Given the description of an element on the screen output the (x, y) to click on. 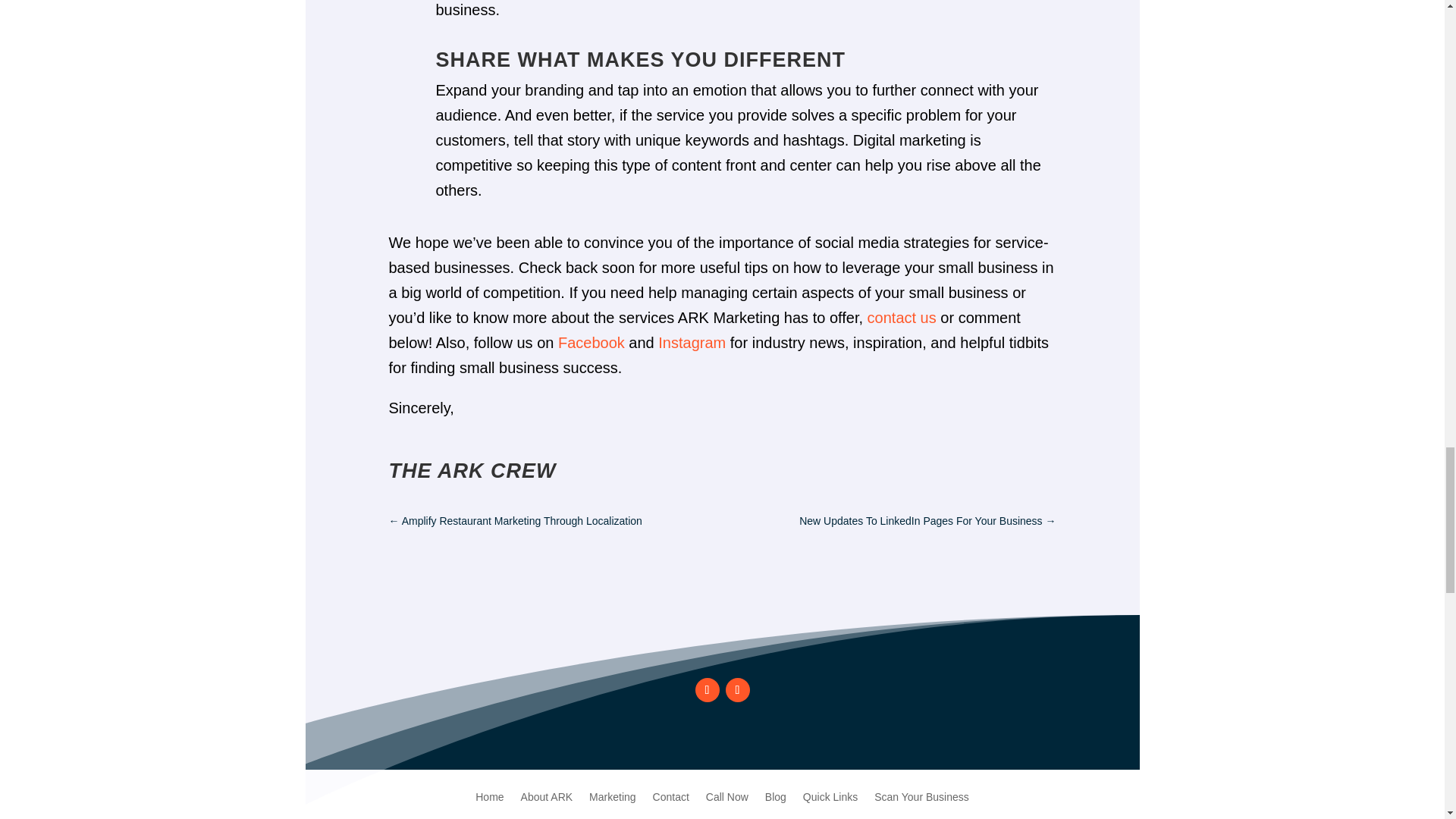
Follow on Instagram (737, 689)
Marketing (611, 785)
Follow on Facebook (706, 689)
Call Now (727, 785)
Facebook (590, 342)
About ARK (547, 785)
Contact (670, 785)
Instagram (691, 342)
Quick Links (830, 785)
contact us (901, 317)
